Given the description of an element on the screen output the (x, y) to click on. 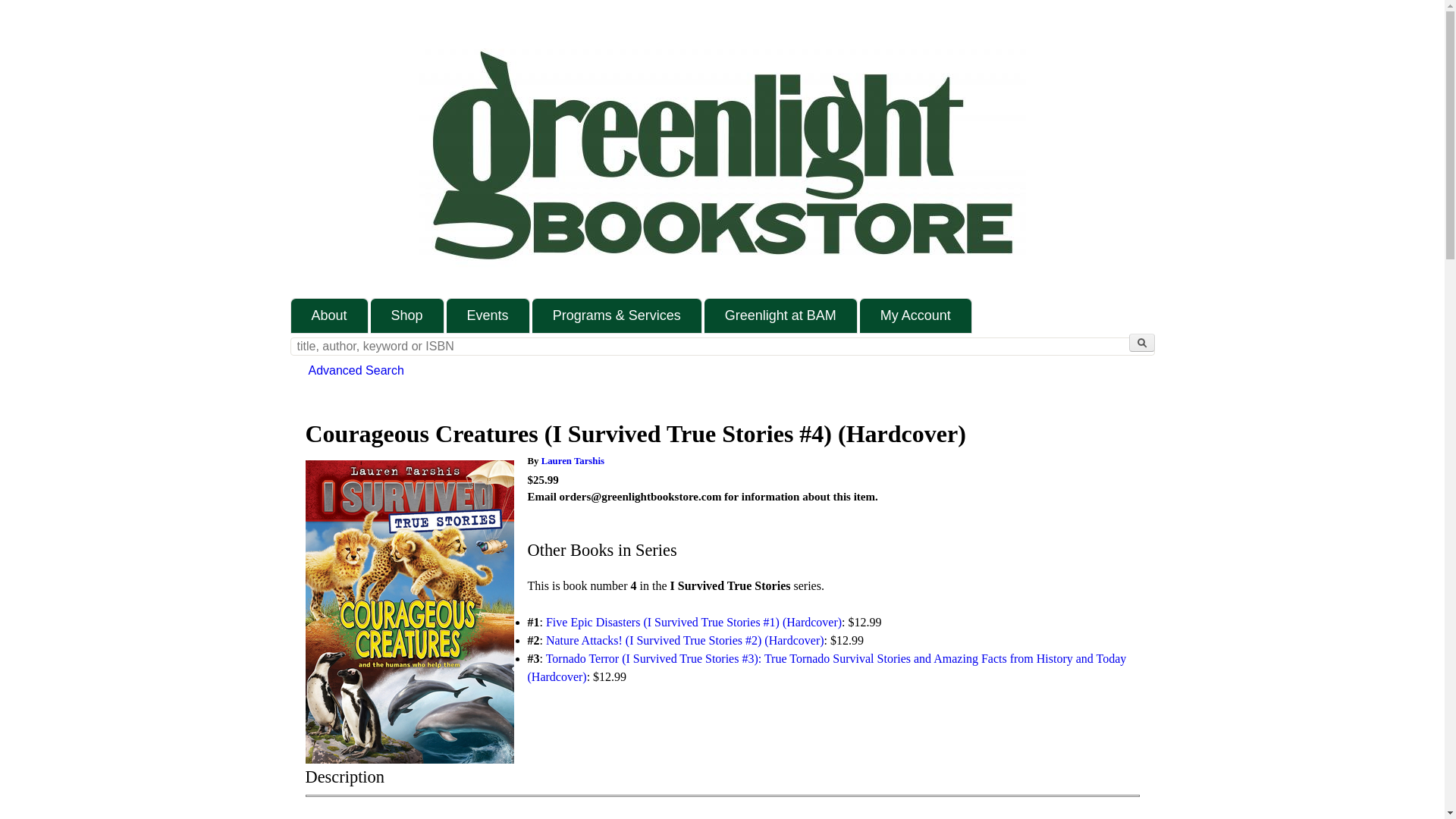
Search (1141, 342)
Shop (407, 315)
About (329, 315)
